Given the description of an element on the screen output the (x, y) to click on. 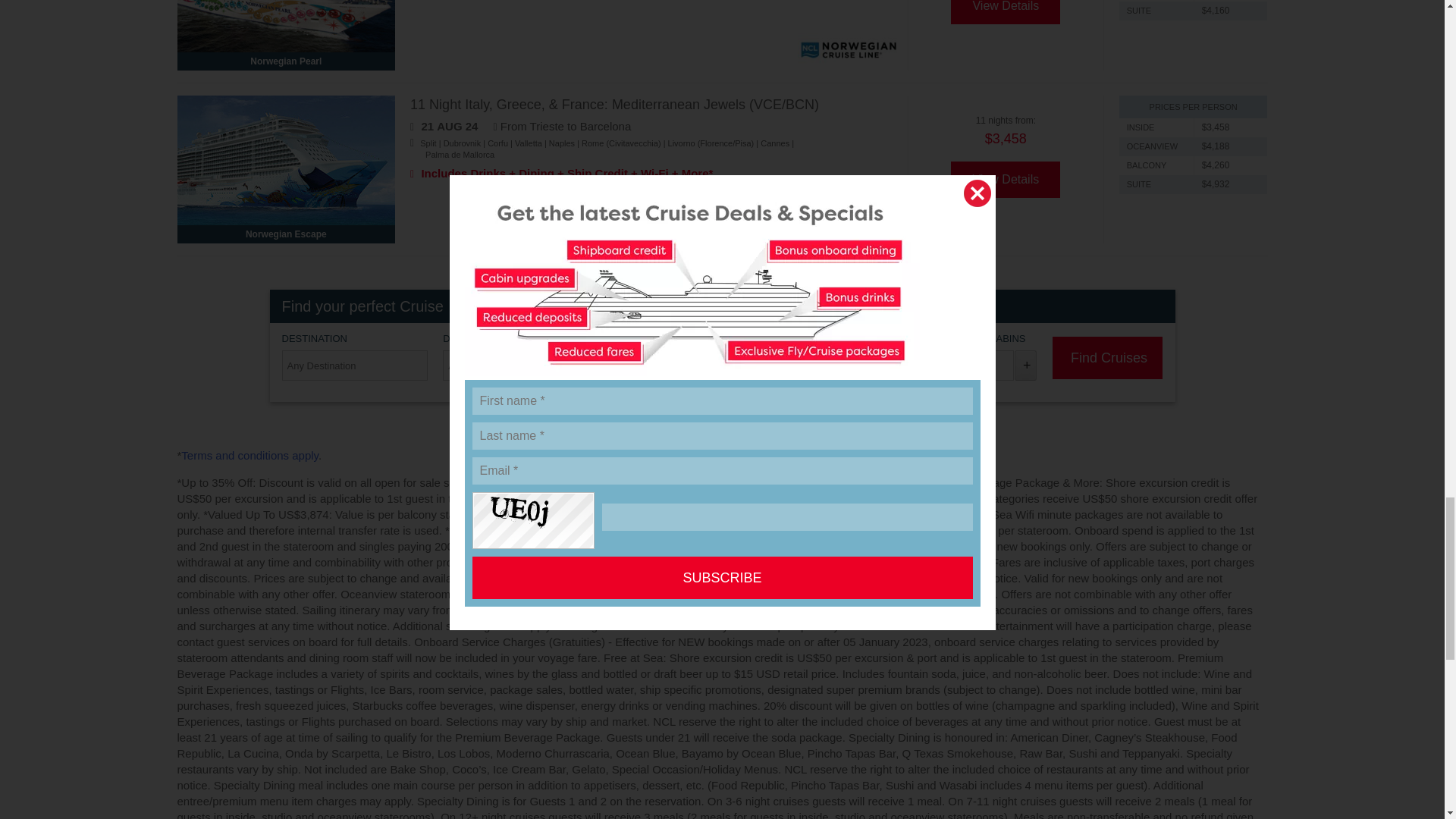
2 (981, 365)
Find Cruises (1106, 357)
Go (926, 277)
Norwegian Cruise Line (848, 222)
Norwegian Cruise Line (848, 49)
